Given the description of an element on the screen output the (x, y) to click on. 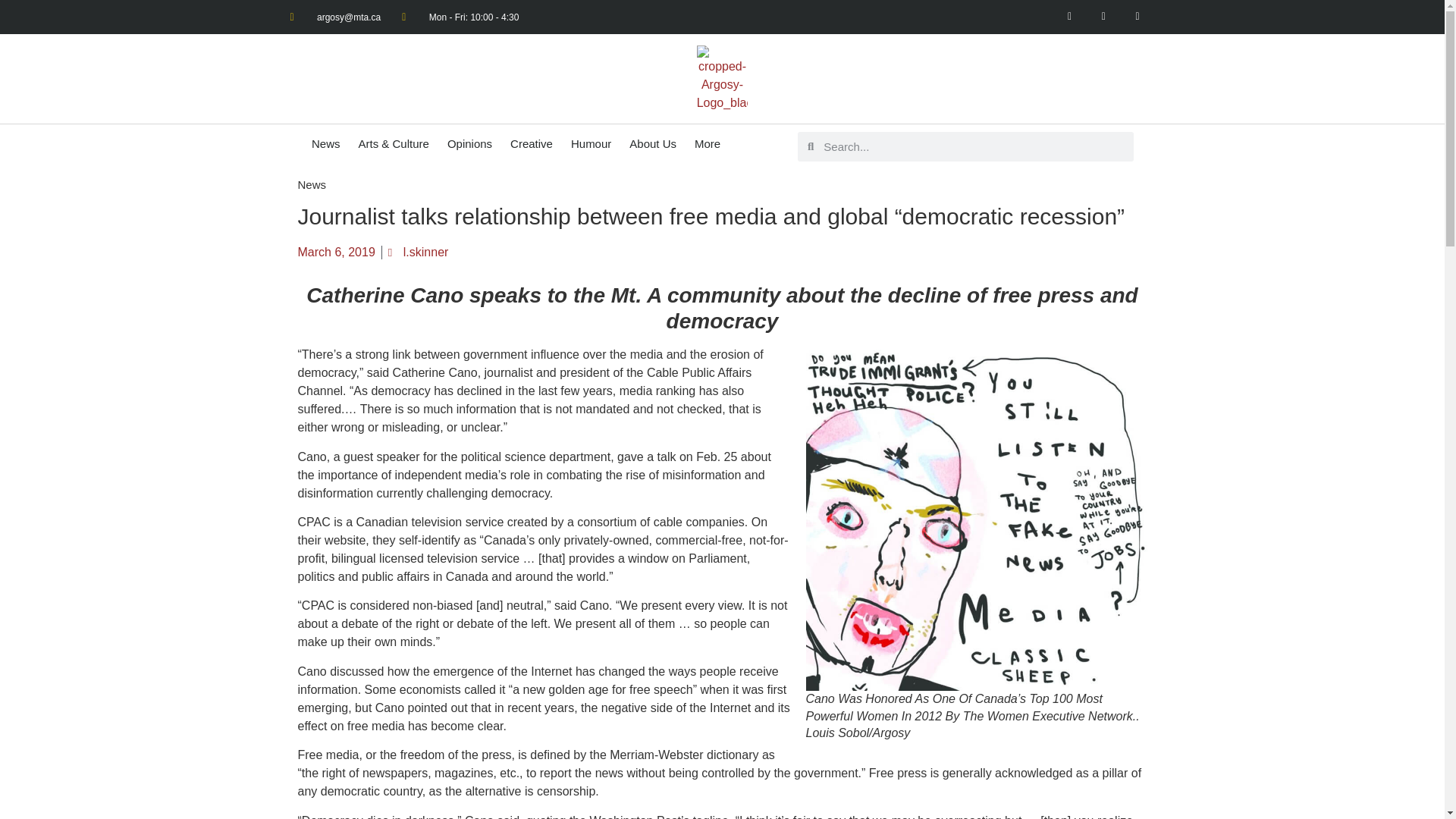
News (311, 184)
Humour (591, 143)
Opinions (469, 143)
March 6, 2019 (335, 252)
l.skinner (418, 252)
News (325, 143)
Creative (531, 143)
About Us (652, 143)
More (707, 143)
